Given the description of an element on the screen output the (x, y) to click on. 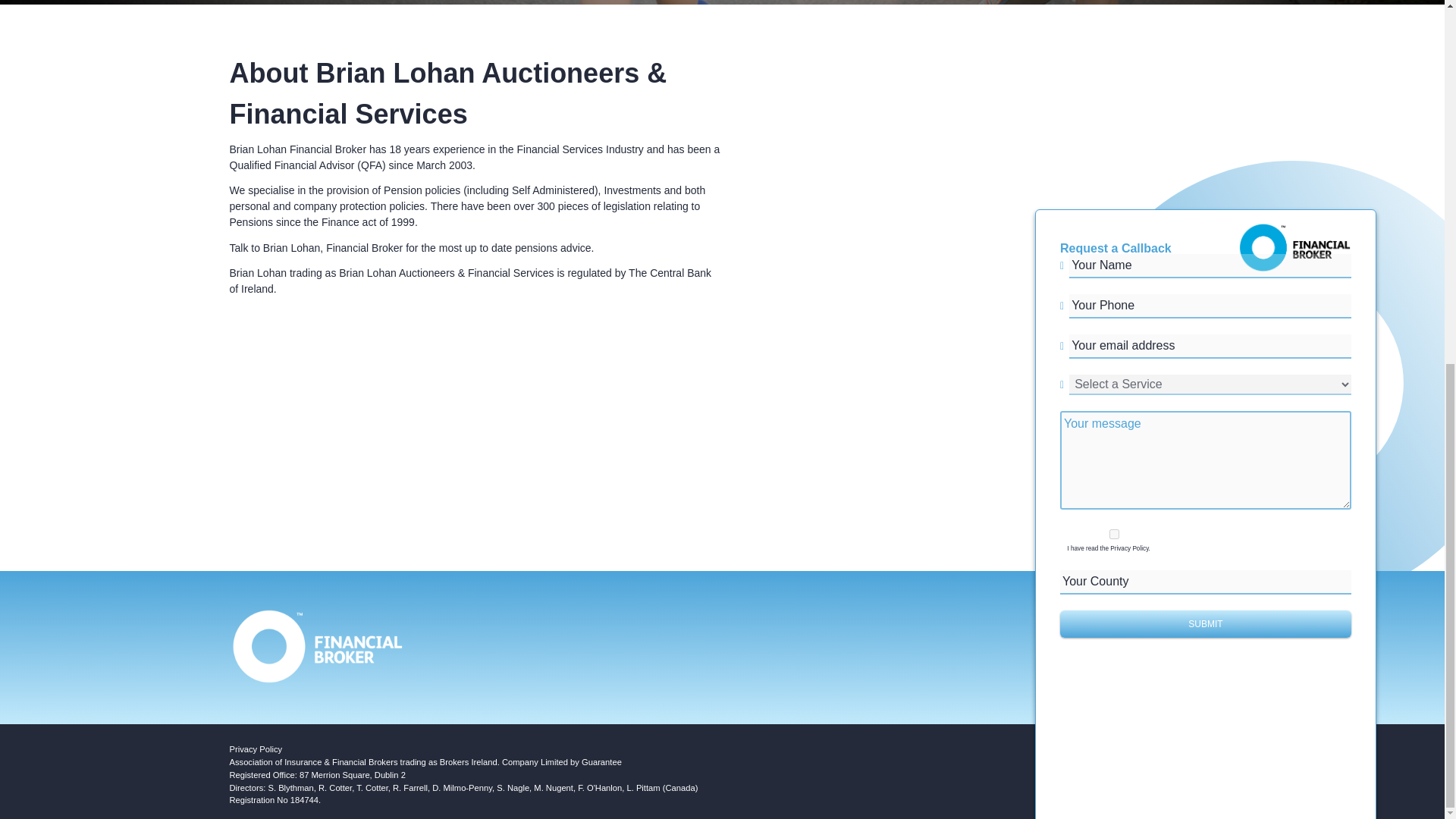
Privacy Policy (255, 748)
Privacy Policy (255, 748)
Binatedigital (1161, 799)
Binatedigital (1161, 799)
